Given the description of an element on the screen output the (x, y) to click on. 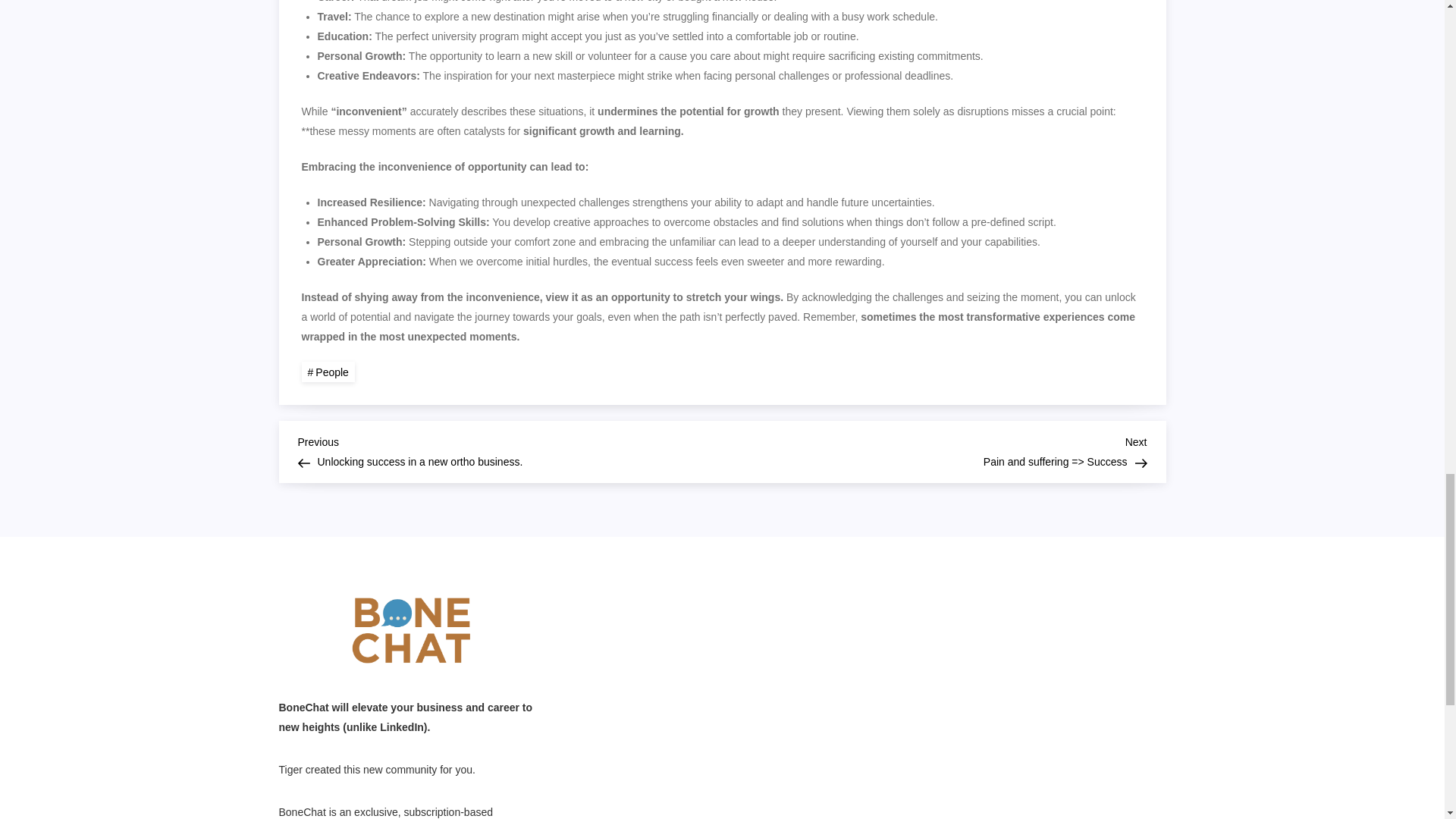
People (328, 371)
